Given the description of an element on the screen output the (x, y) to click on. 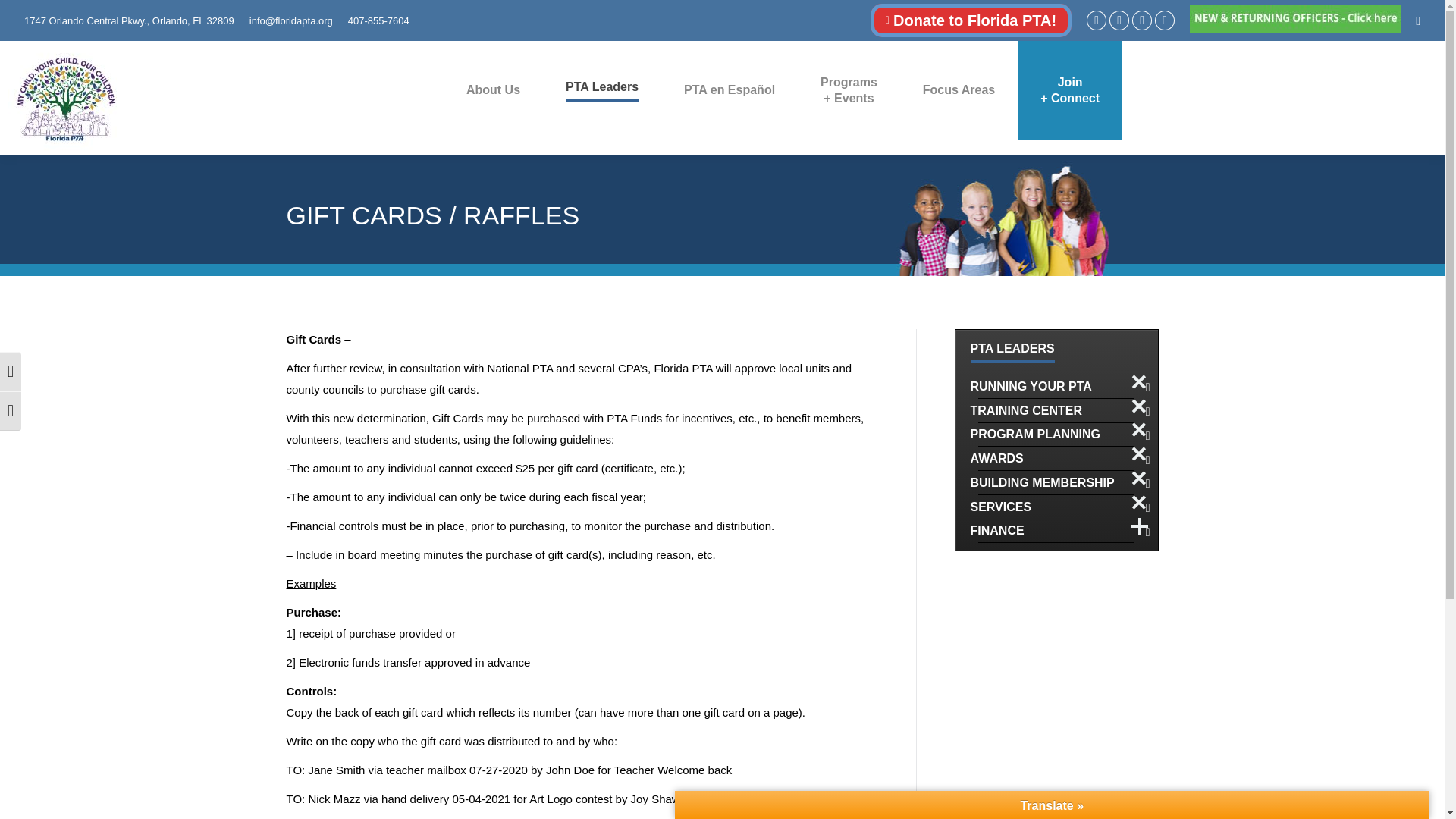
X page opens in new window (1119, 20)
Instagram page opens in new window (1141, 20)
Facebook page opens in new window (1096, 20)
About Us (493, 90)
Go! (24, 16)
YouTube page opens in new window (1164, 20)
Donate to Florida PTA! (970, 20)
